Given the description of an element on the screen output the (x, y) to click on. 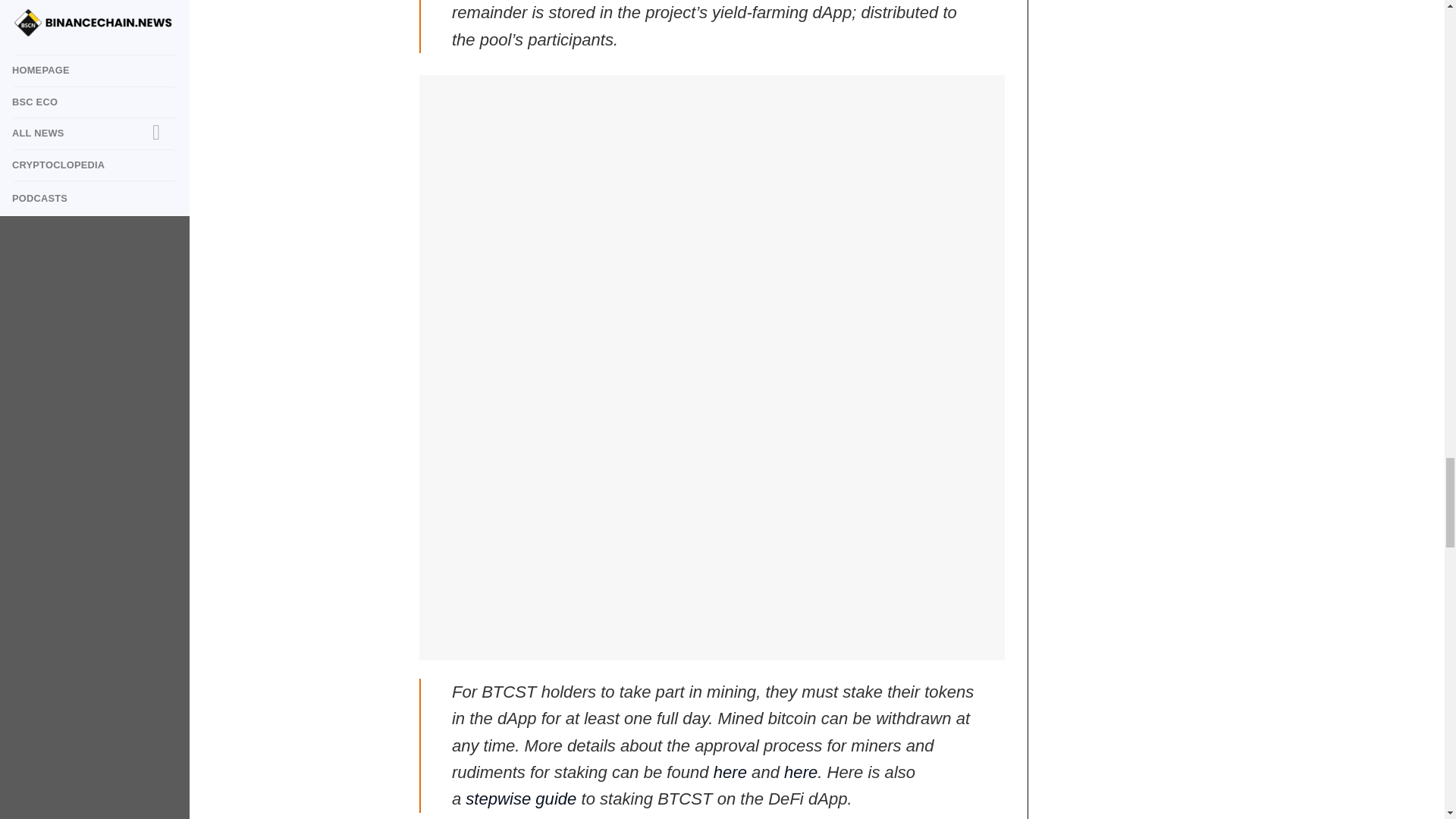
stepwise guide (520, 798)
here (729, 772)
here (800, 772)
